Given the description of an element on the screen output the (x, y) to click on. 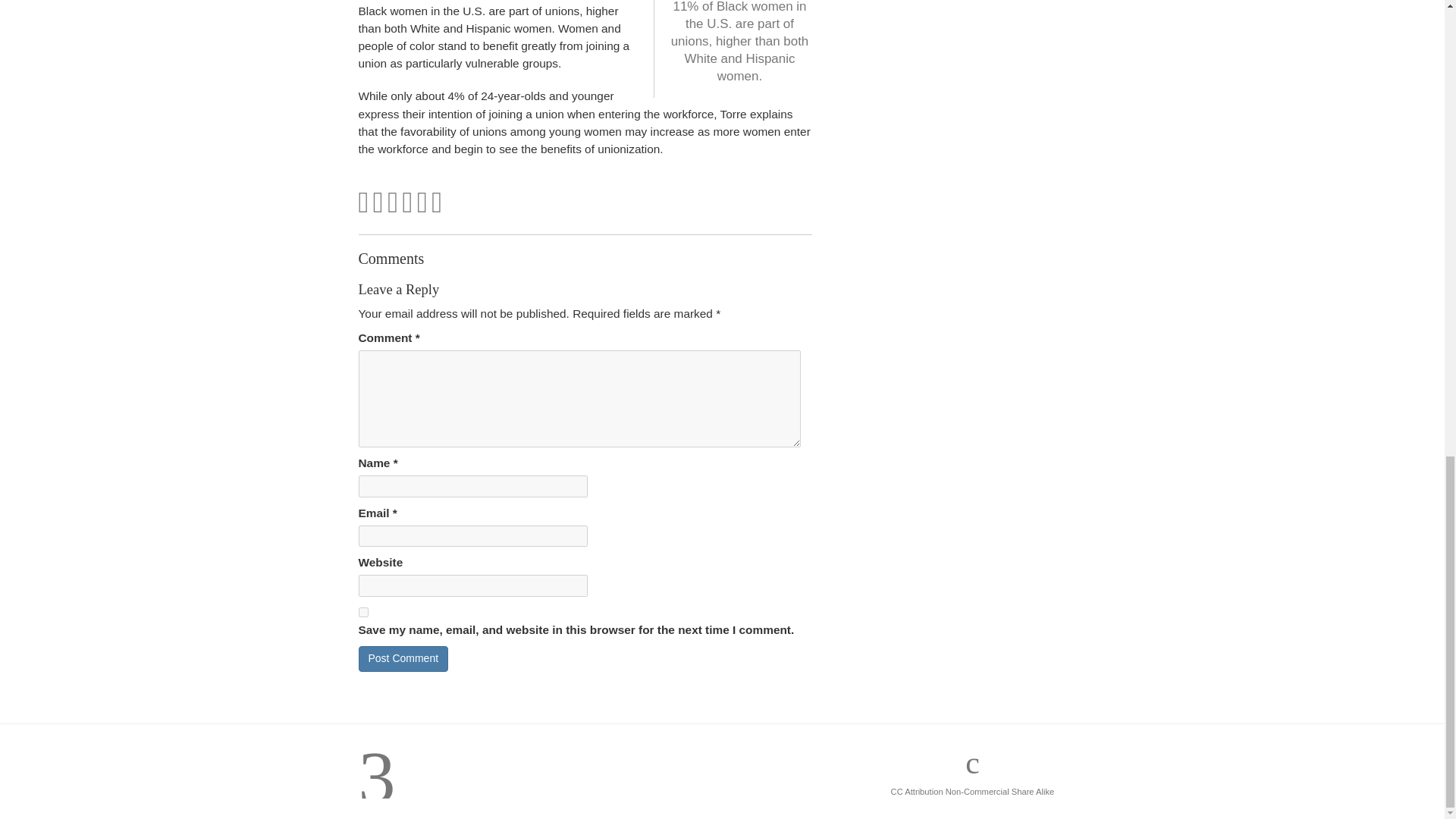
CC Attribution Non-Commercial Share Alike (972, 791)
Post Comment (403, 658)
yes (363, 612)
Post Comment (403, 658)
